Given the description of an element on the screen output the (x, y) to click on. 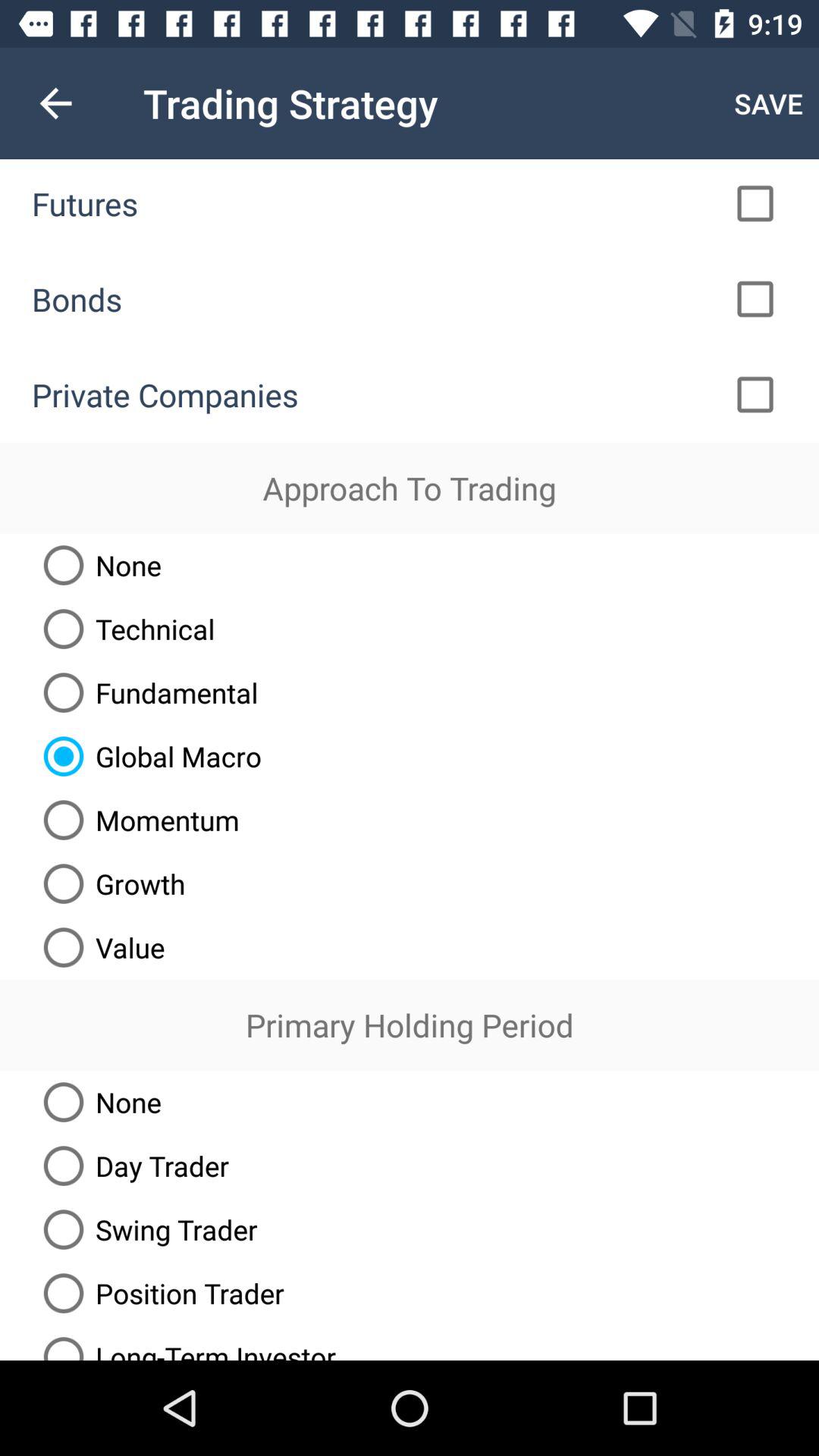
launch icon below none item (130, 1165)
